Given the description of an element on the screen output the (x, y) to click on. 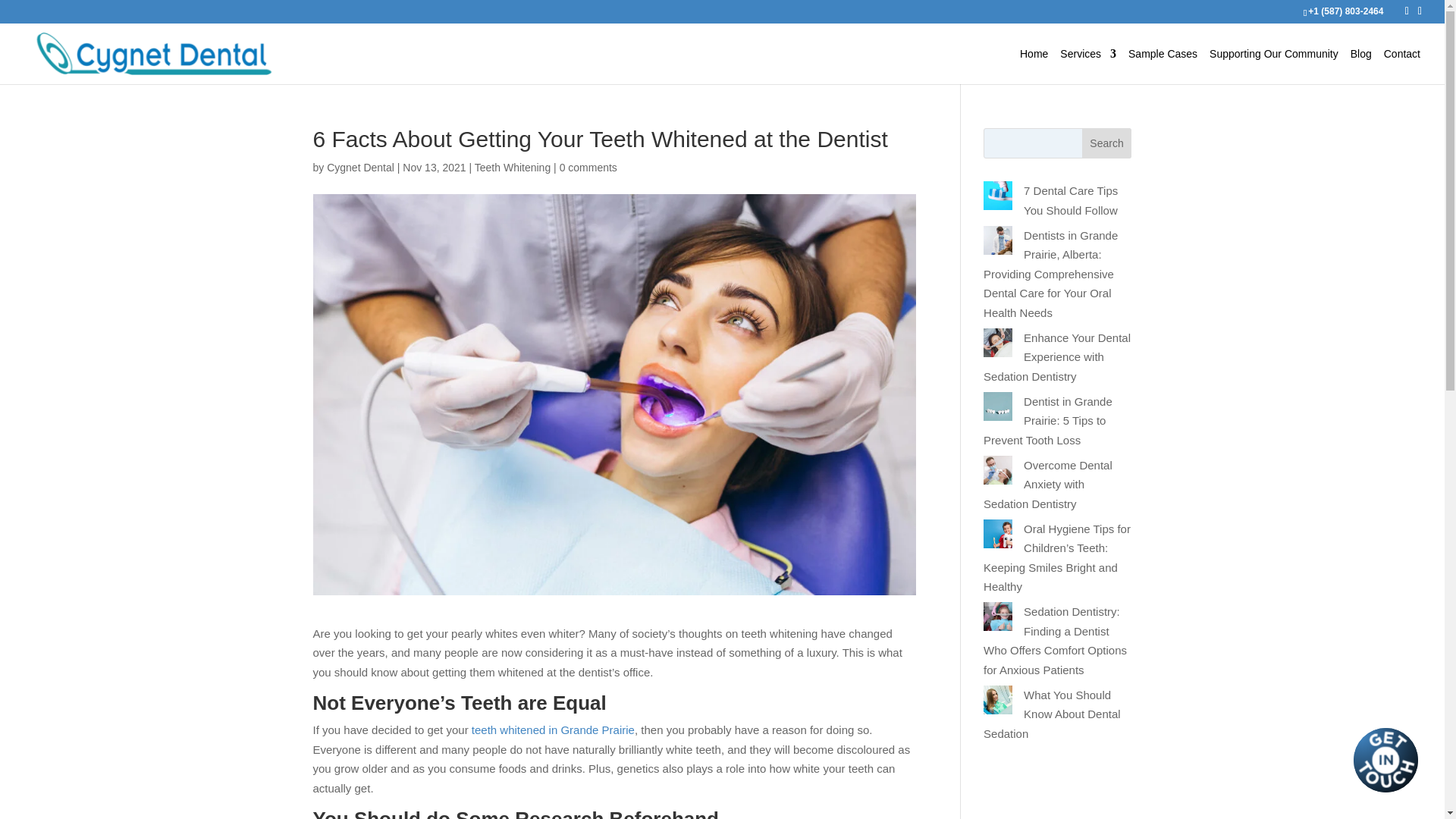
0 comments (588, 167)
Cygnet Dental (360, 167)
Search (1106, 142)
Posts by Cygnet Dental (360, 167)
Teeth Whitening (512, 167)
Supporting Our Community (1273, 66)
teeth whitened in Grande Prairie (552, 729)
Services (1087, 66)
Sample Cases (1162, 66)
Contact (1402, 66)
